Given the description of an element on the screen output the (x, y) to click on. 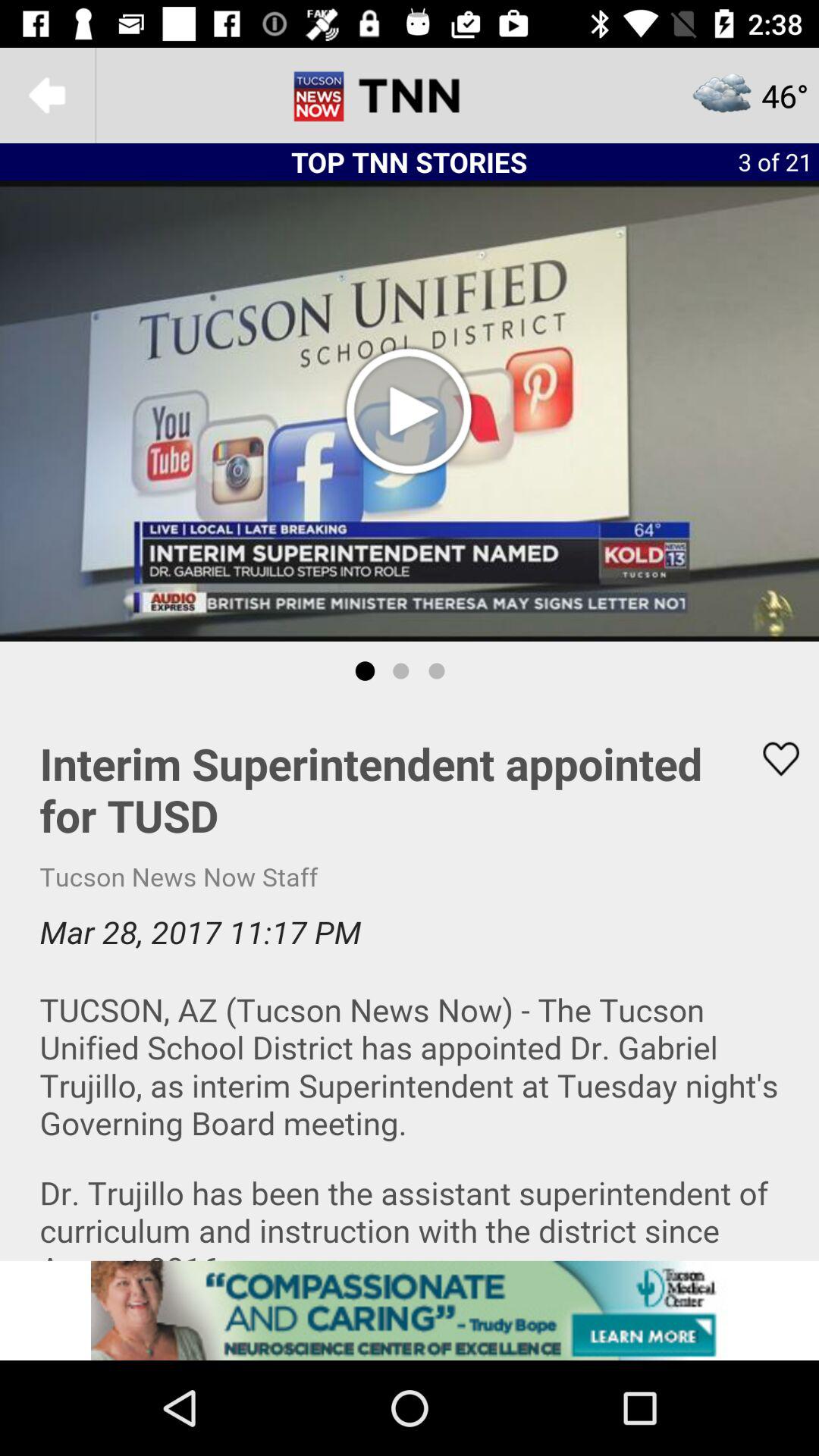
add to liked (771, 758)
